Given the description of an element on the screen output the (x, y) to click on. 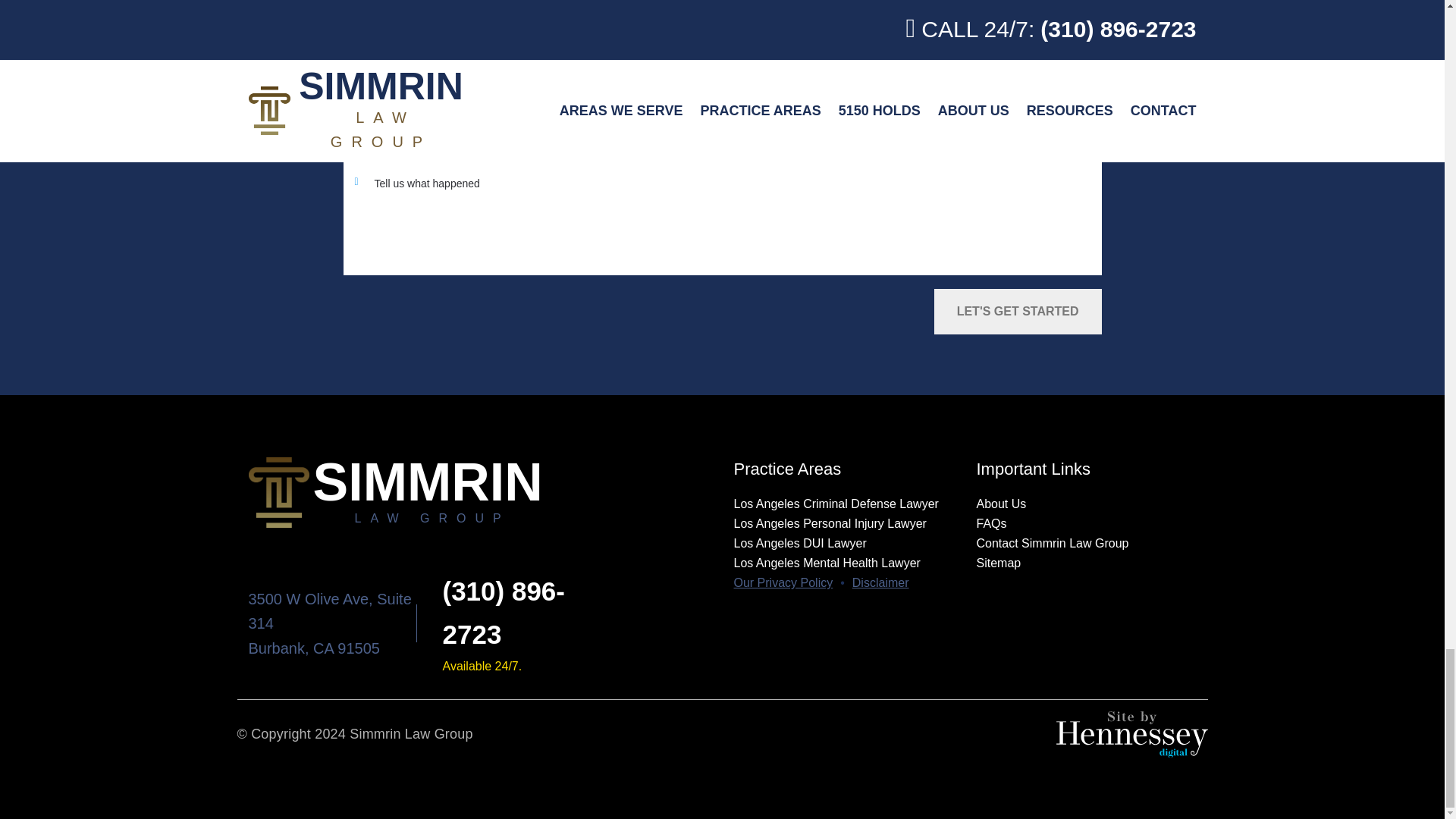
Simmrin Law (479, 491)
phone (503, 612)
Let's get started (1018, 311)
our privacy policy (782, 582)
disclaimer (879, 582)
